Given the description of an element on the screen output the (x, y) to click on. 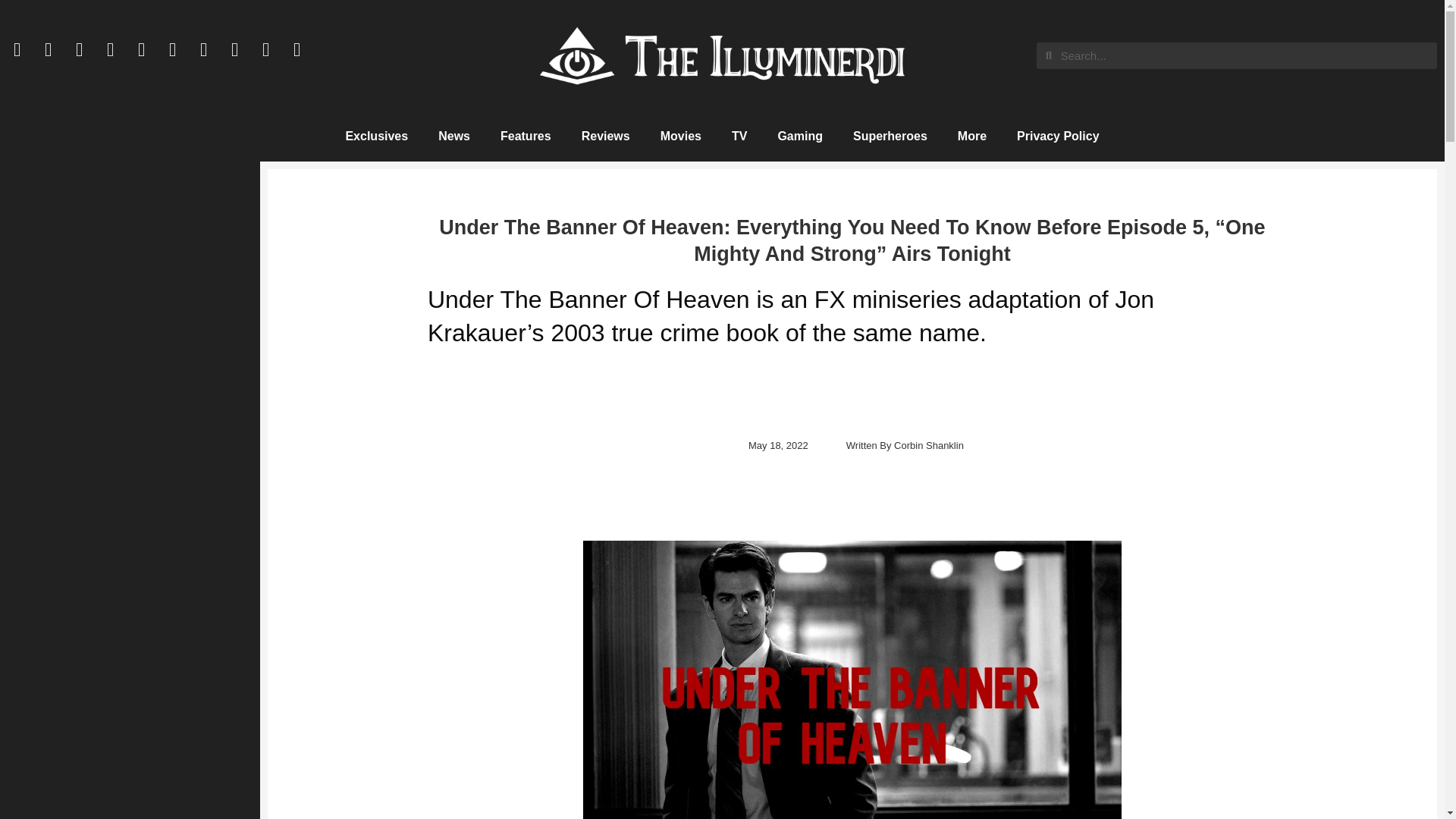
Features (525, 135)
Privacy Policy (1058, 135)
Reviews (605, 135)
More (971, 135)
Superheroes (890, 135)
Exclusives (376, 135)
Movies (680, 135)
Gaming (799, 135)
TV (738, 135)
News (453, 135)
